Given the description of an element on the screen output the (x, y) to click on. 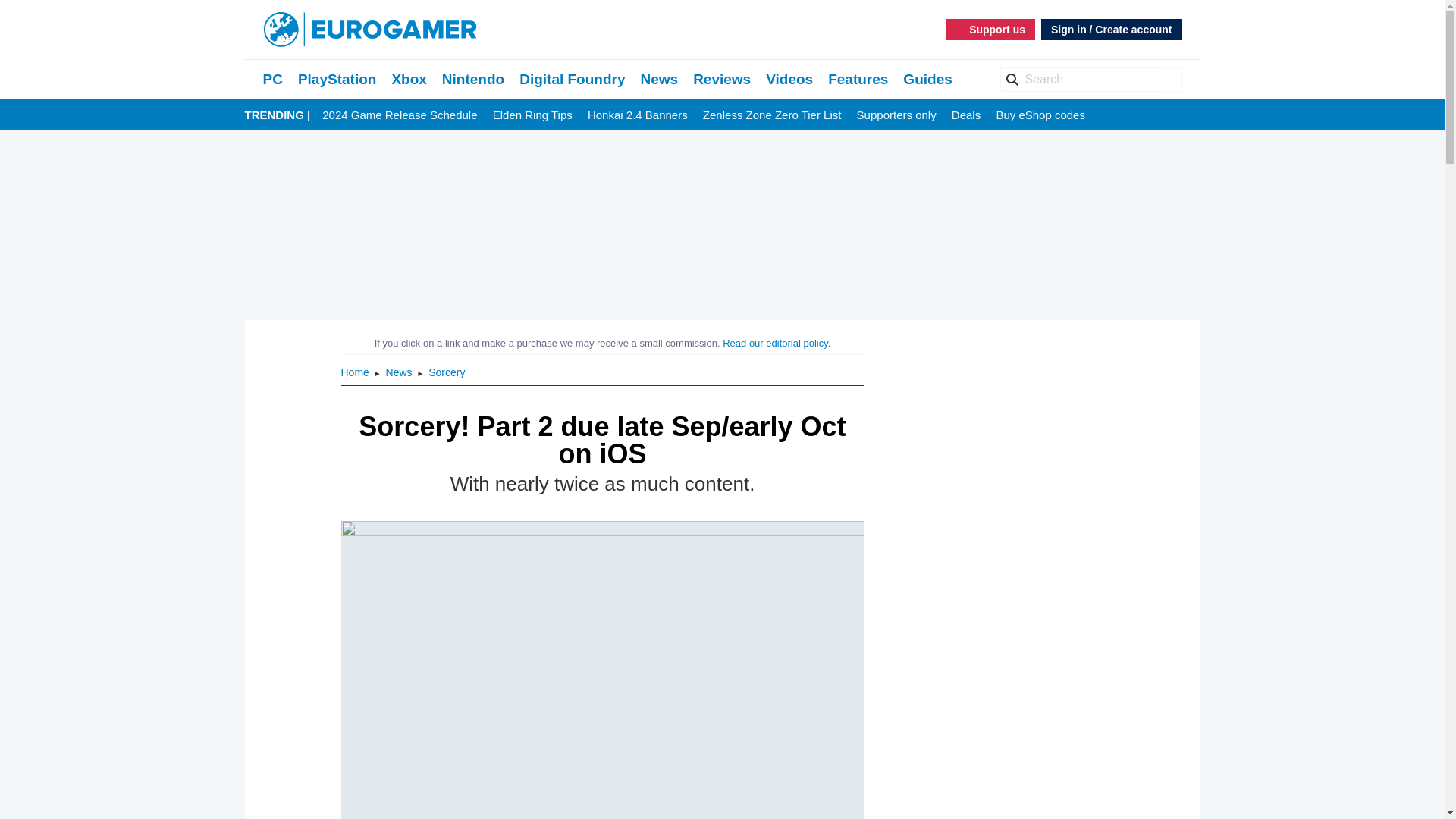
News (659, 78)
Reviews (722, 78)
Zenless Zone Zero Tier List (772, 114)
Reviews (722, 78)
PC (272, 78)
Xbox (408, 78)
Nintendo (472, 78)
PlayStation (336, 78)
Videos (788, 78)
Elden Ring Tips (532, 114)
2024 Game Release Schedule (399, 114)
PlayStation (336, 78)
Read our editorial policy (775, 342)
Honkai 2.4 Banners (637, 114)
Digital Foundry (571, 78)
